Given the description of an element on the screen output the (x, y) to click on. 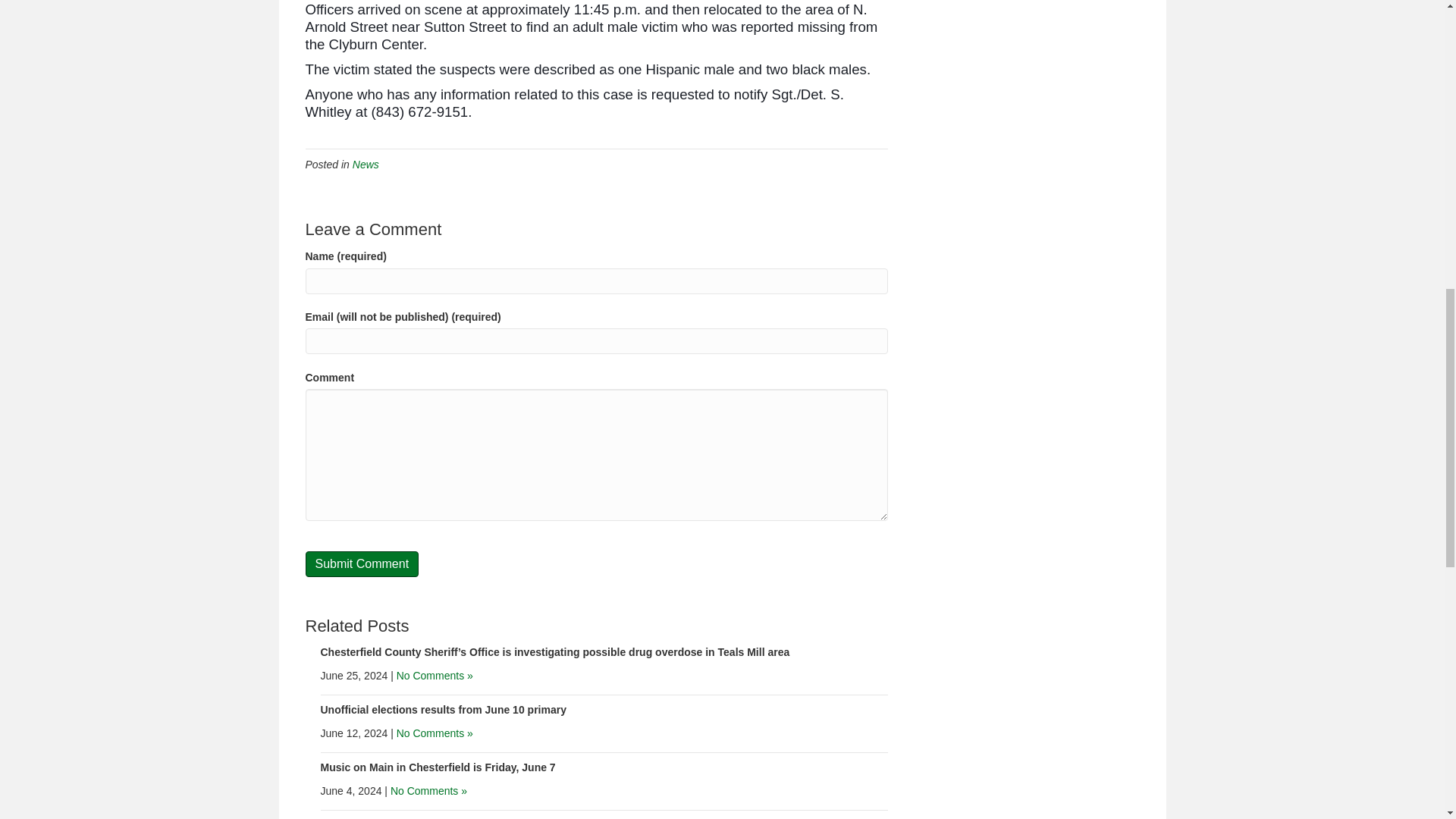
Music on Main in Chesterfield is Friday, June 7 (437, 767)
Submit Comment (361, 563)
Unofficial elections results from June 10 primary (443, 709)
